Given the description of an element on the screen output the (x, y) to click on. 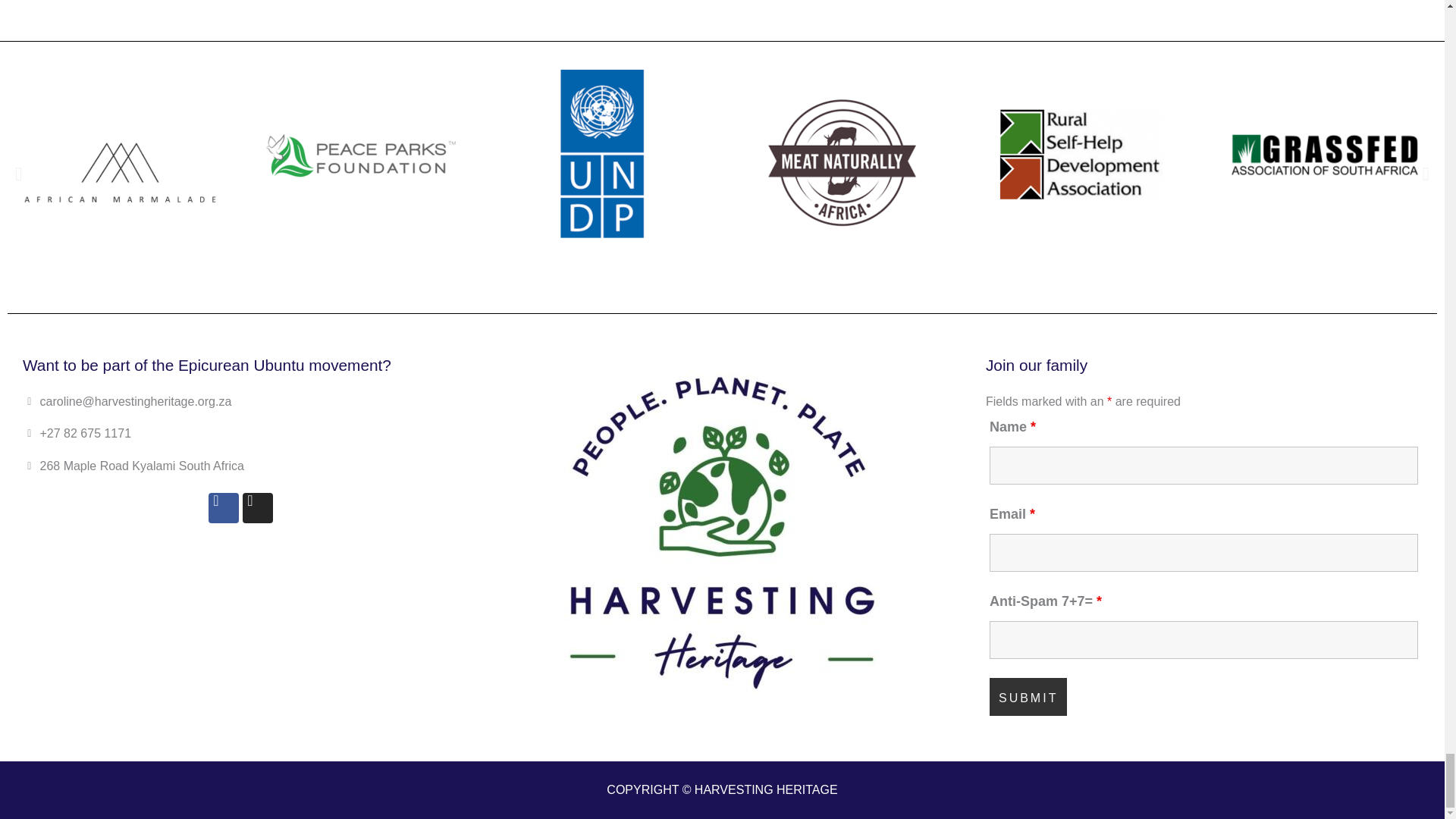
Submit (1028, 696)
Submit (1028, 696)
